Given the description of an element on the screen output the (x, y) to click on. 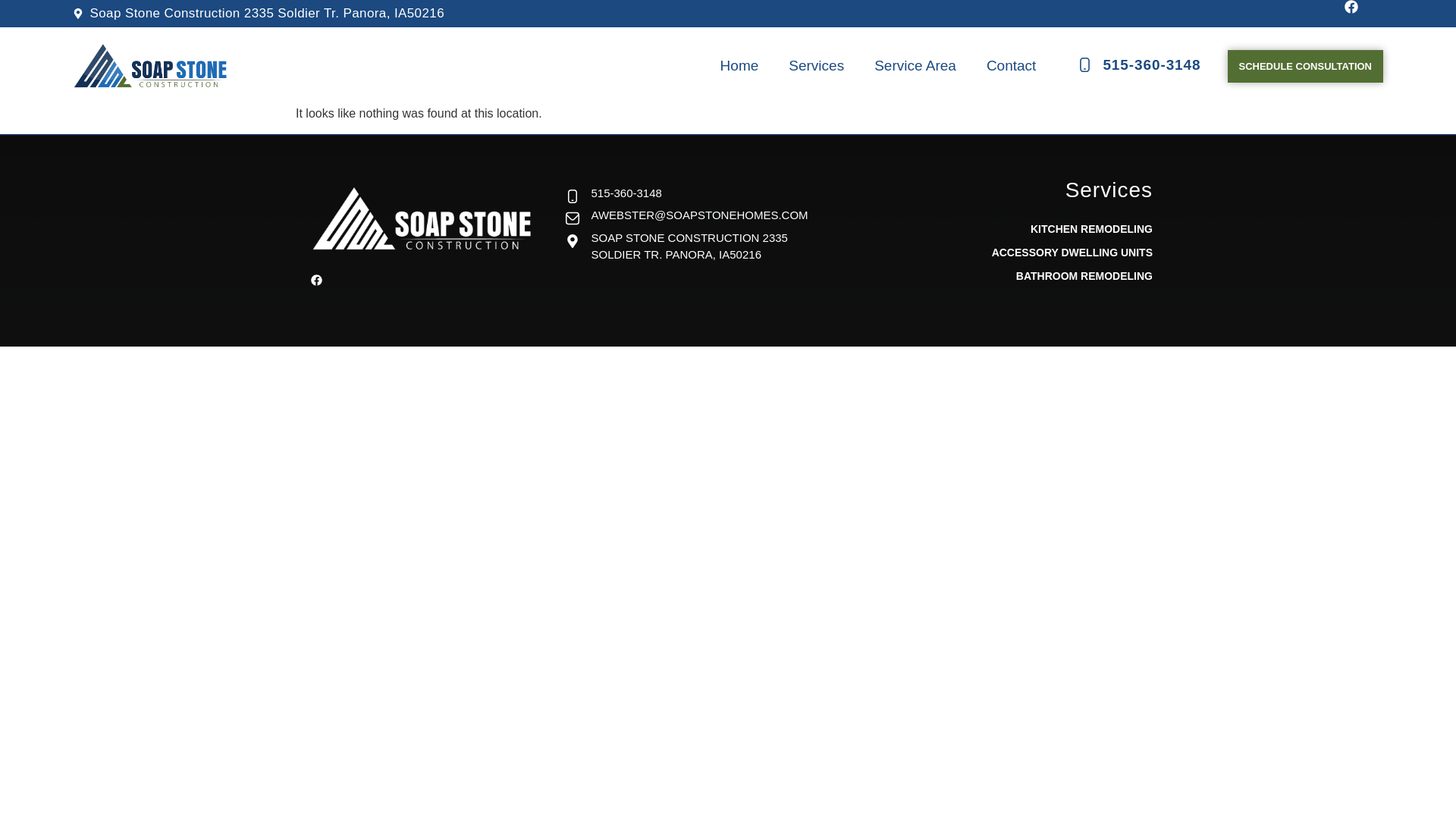
Service Area (915, 66)
515-360-3148 (678, 193)
BATHROOM REMODELING (1072, 276)
Home (739, 66)
Services (816, 66)
KITCHEN REMODELING (1072, 228)
515-360-3148 (1138, 65)
SCHEDULE CONSULTATION (1305, 65)
Contact (1011, 66)
ACCESSORY DWELLING UNITS (1072, 252)
